Given the description of an element on the screen output the (x, y) to click on. 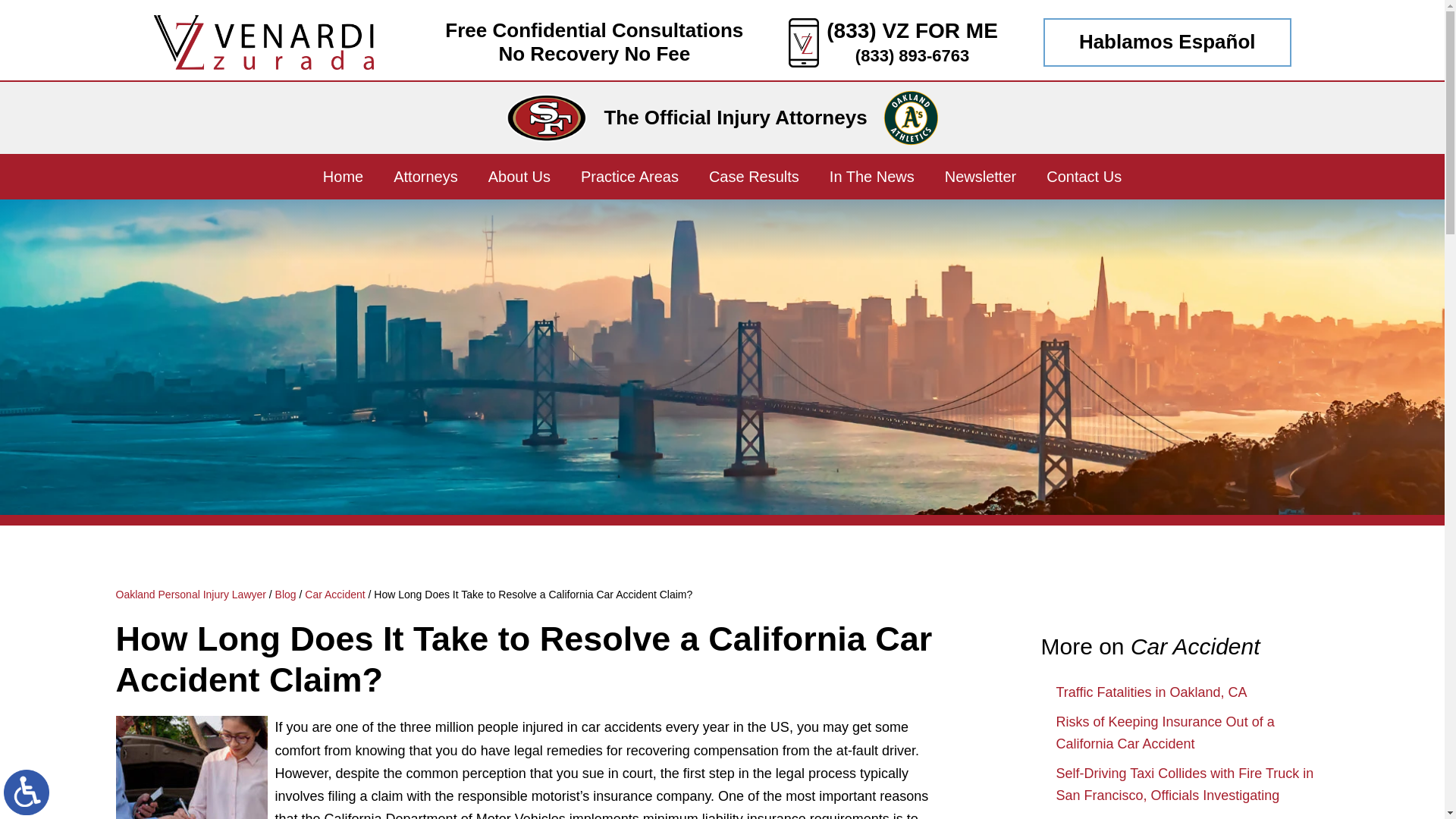
AccWitness (190, 767)
Home (342, 176)
Attorneys (424, 176)
About Us (519, 176)
Switch to ADA Accessible Theme (26, 791)
